Given the description of an element on the screen output the (x, y) to click on. 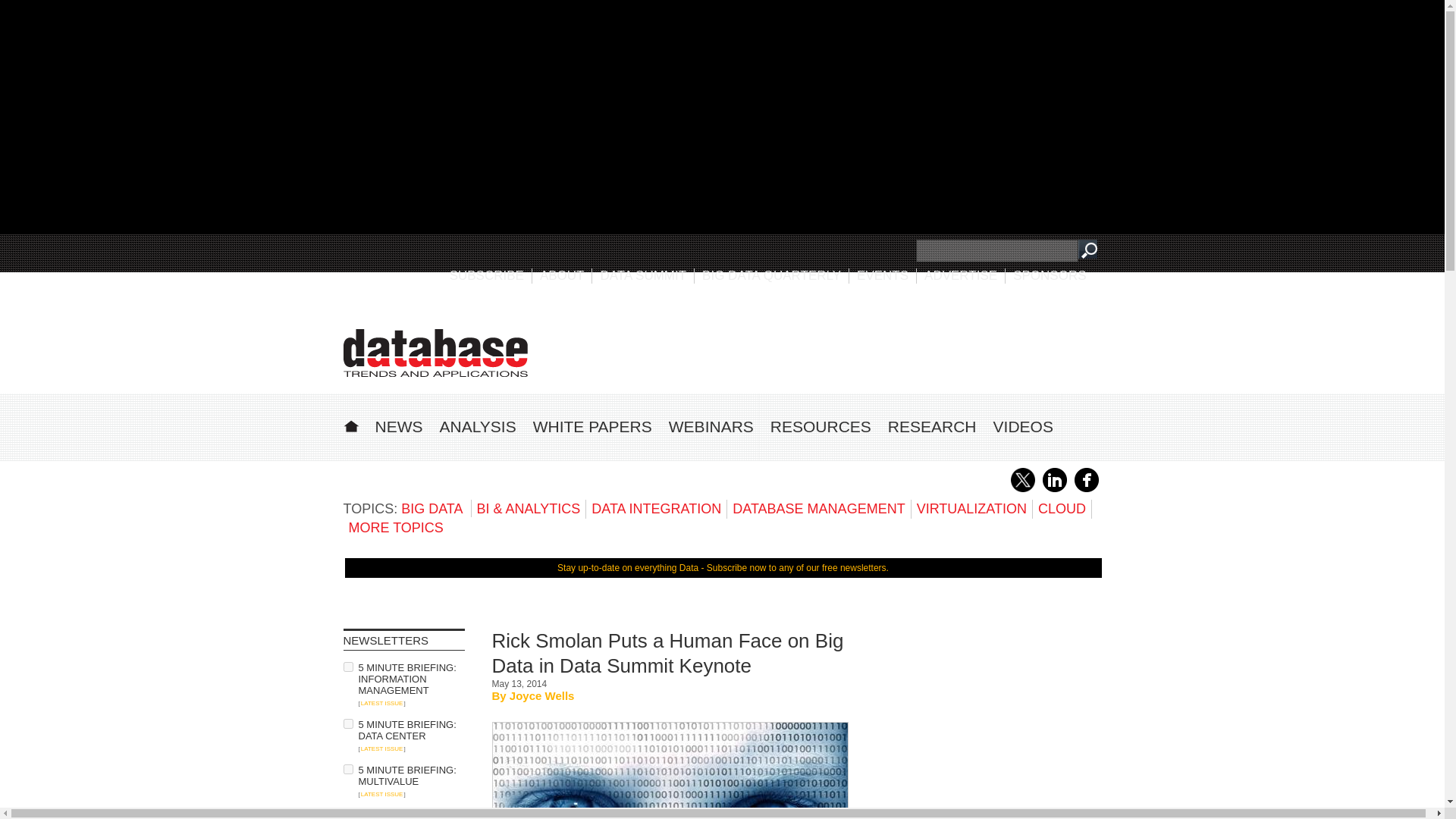
BIG DATA QUARTERLY (771, 275)
3rd party ad content (986, 723)
EVENTS (882, 275)
DBTA on Twitter (1021, 489)
on (347, 768)
DATA SUMMIT (642, 275)
DBTA on Facebook (1085, 489)
Database Trends and Applications Home (350, 424)
on (347, 723)
